Given the description of an element on the screen output the (x, y) to click on. 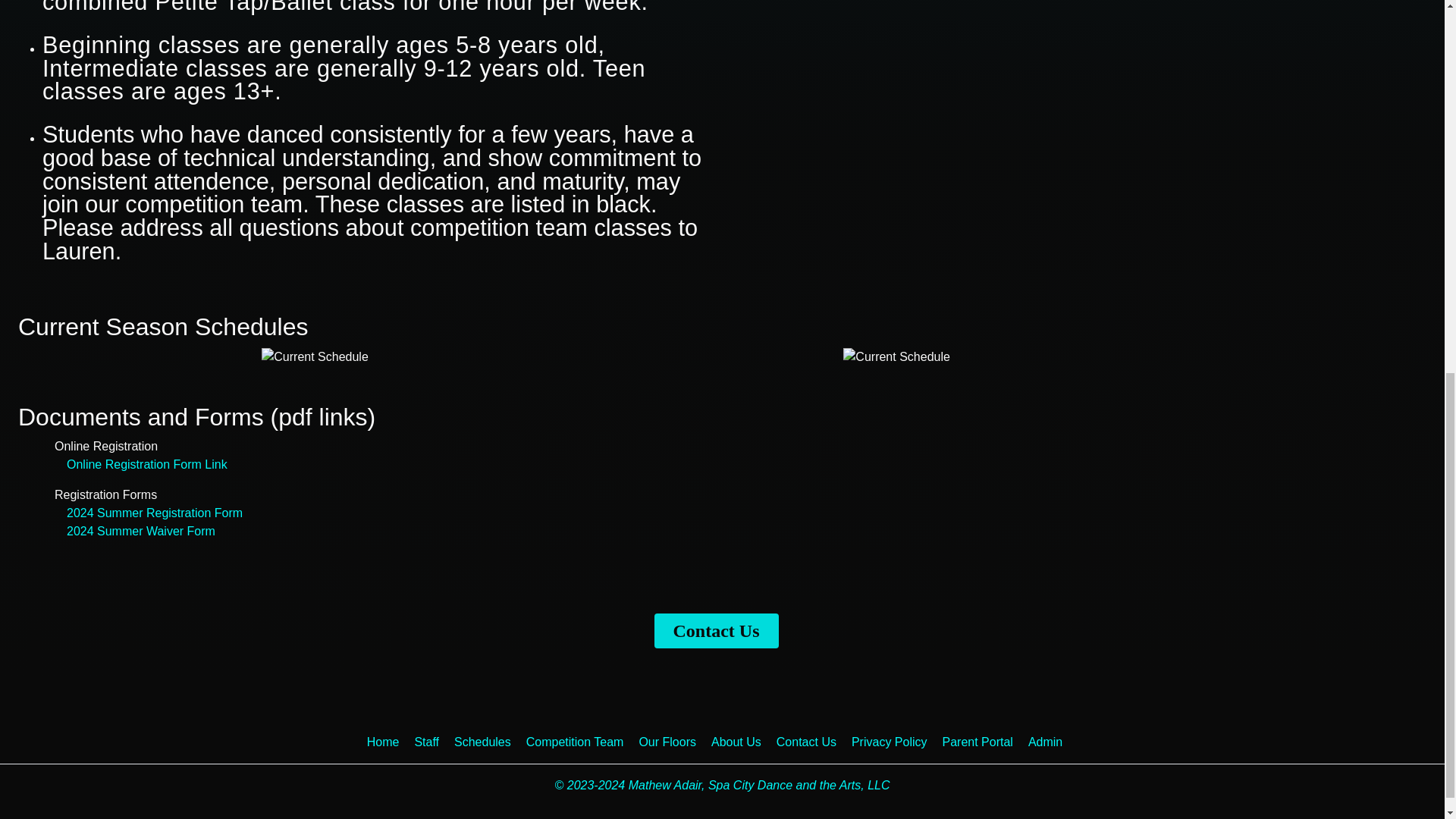
Contact Us (813, 741)
2024 Summer Waiver Form (140, 530)
Contact Us (715, 630)
Staff (433, 741)
Schedules (489, 741)
Parent Portal (984, 741)
Admin (1052, 741)
2024 Summer Registration Form (154, 512)
About Us (743, 741)
Privacy Policy (896, 741)
